Given the description of an element on the screen output the (x, y) to click on. 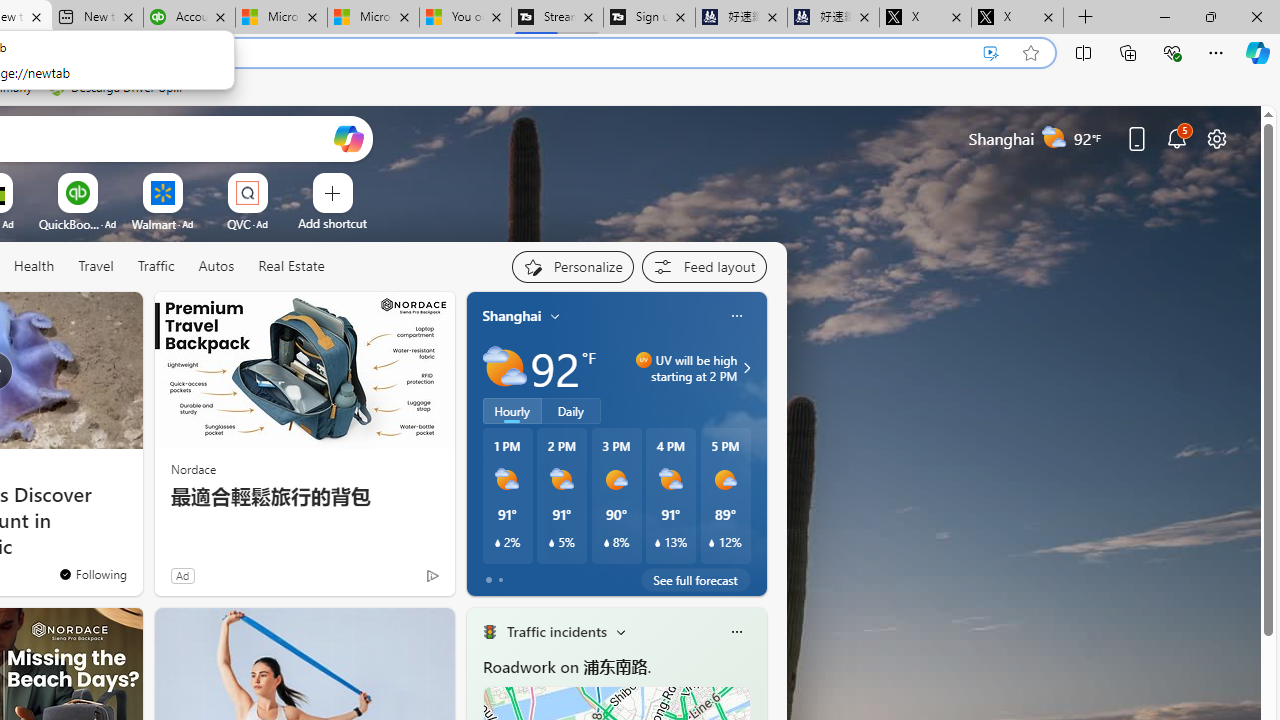
Class: weather-current-precipitation-glyph (712, 543)
Accounting Software for Accountants, CPAs and Bookkeepers (189, 17)
Health (34, 265)
See full forecast (695, 579)
Daily (571, 411)
Add a site (332, 223)
You're following Newsweek (92, 573)
